Given the description of an element on the screen output the (x, y) to click on. 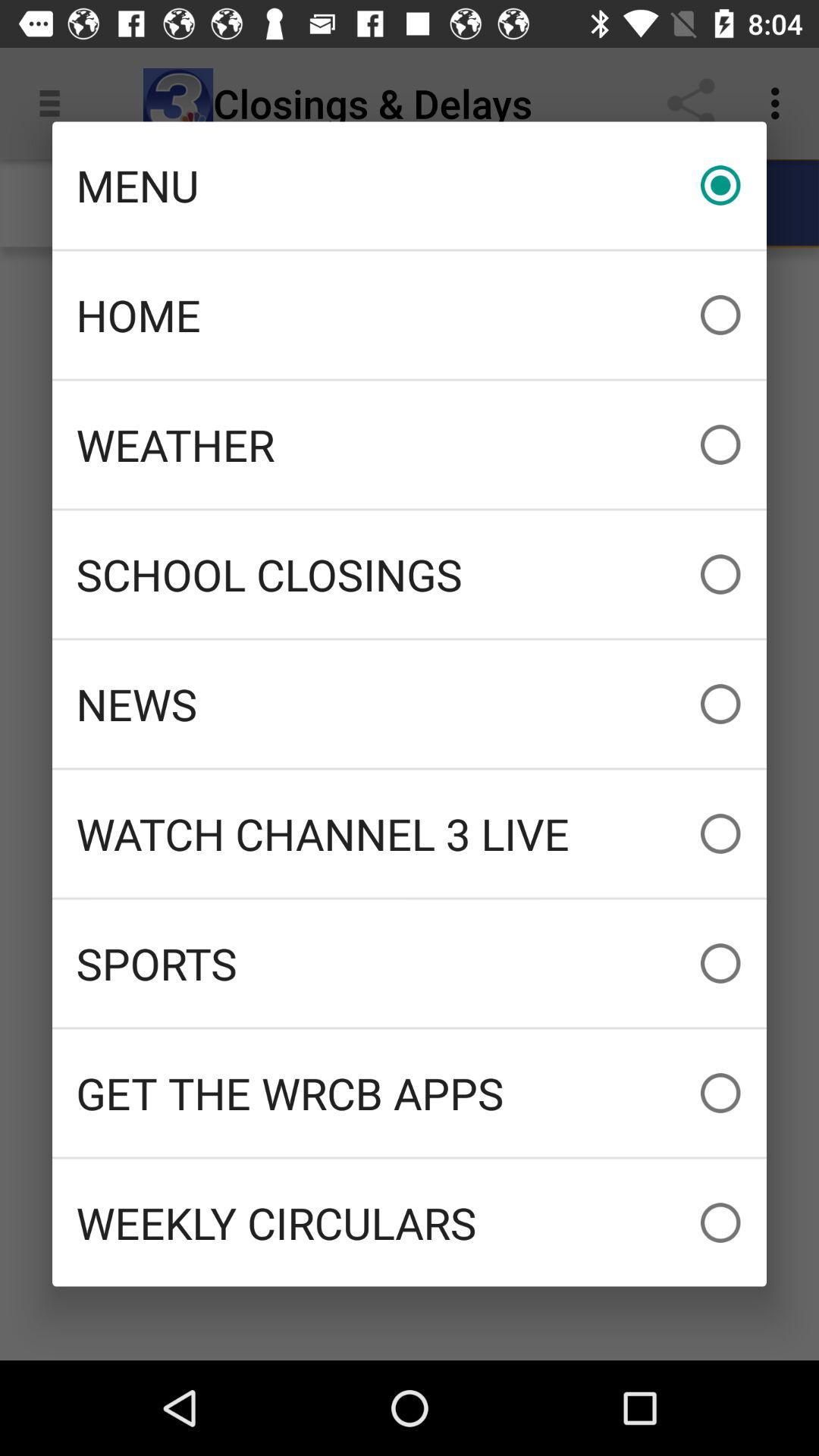
press icon above home item (409, 185)
